Given the description of an element on the screen output the (x, y) to click on. 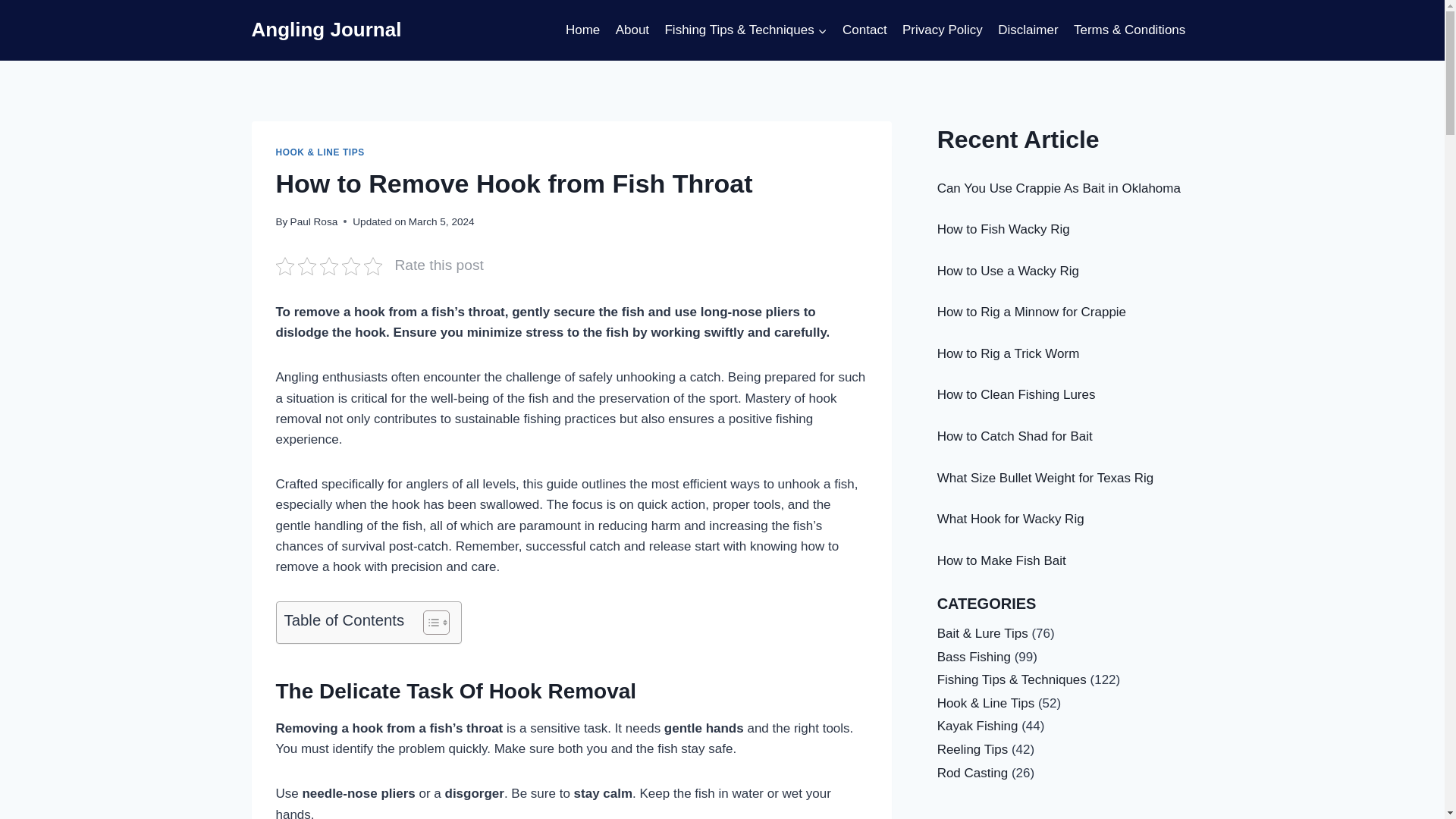
Privacy Policy (942, 30)
Angling Journal (326, 29)
Disclaimer (1027, 30)
About (631, 30)
Home (582, 30)
Contact (864, 30)
